Given the description of an element on the screen output the (x, y) to click on. 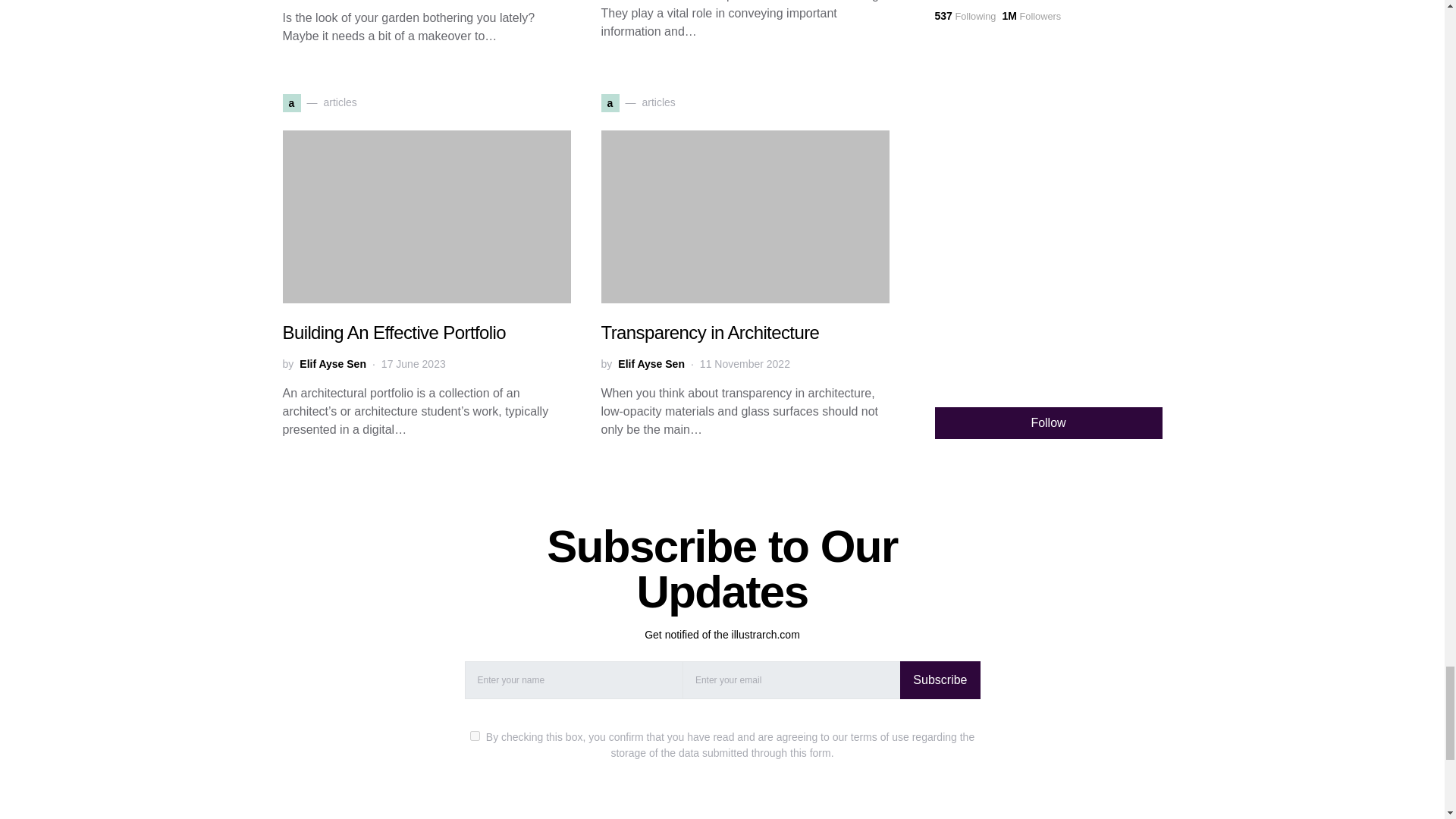
on (475, 736)
